Given the description of an element on the screen output the (x, y) to click on. 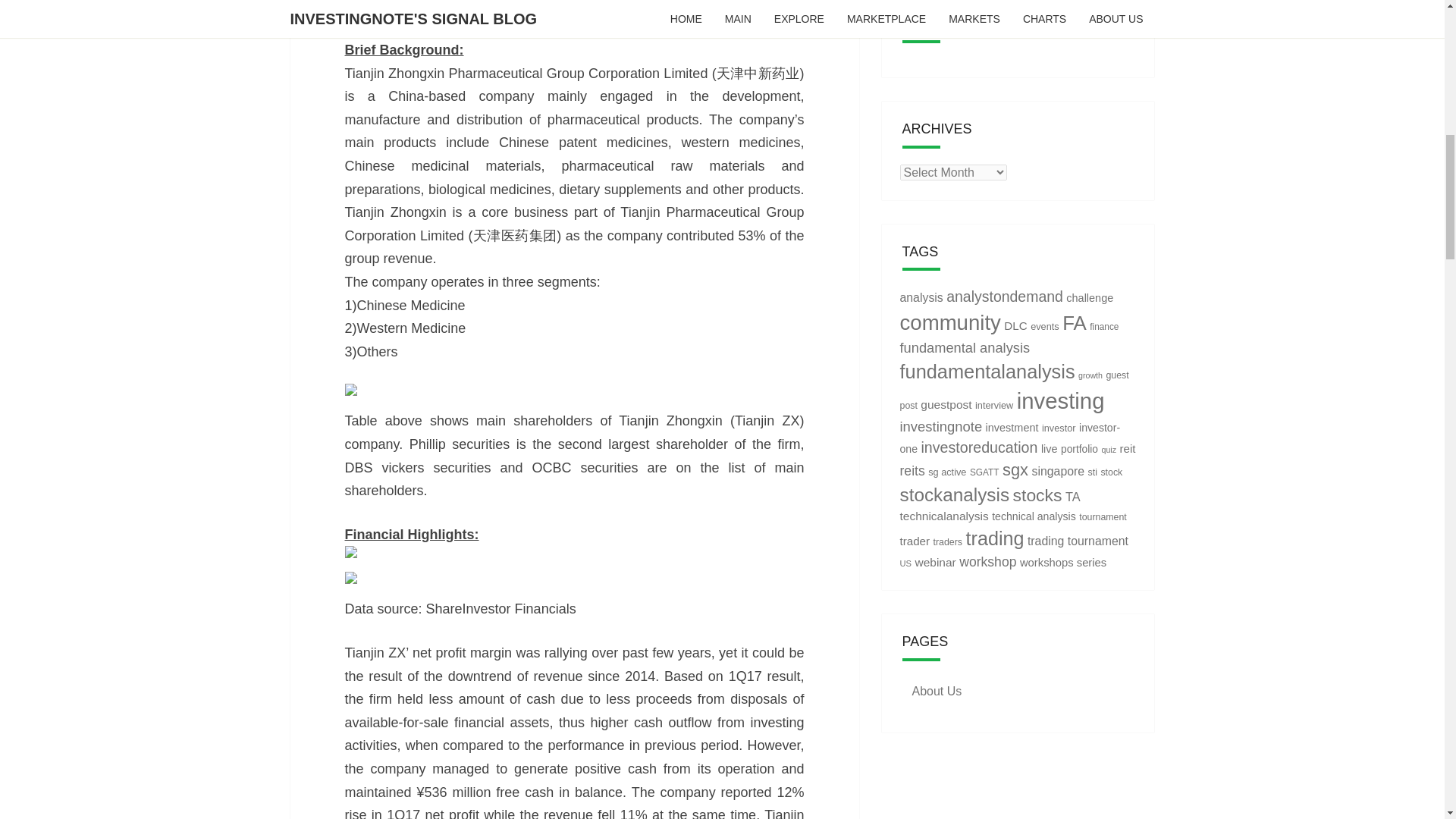
analystondemand (1004, 296)
analysis (920, 297)
